Given the description of an element on the screen output the (x, y) to click on. 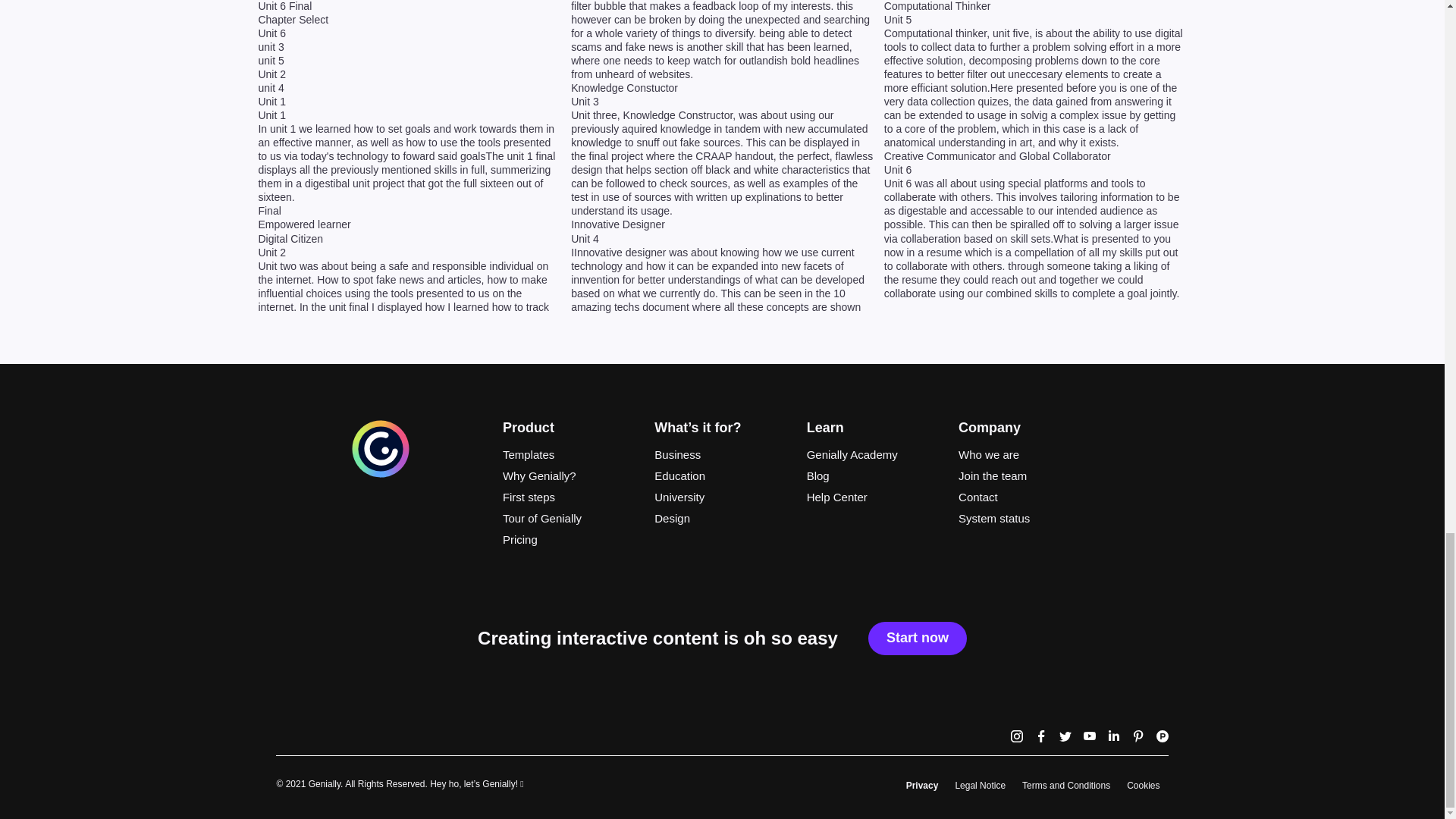
First steps (569, 497)
Templates (569, 454)
University (721, 497)
Design (721, 518)
Education (721, 475)
Business (721, 454)
Genially Academy (874, 454)
Genially home page (380, 475)
Why Genially? (569, 475)
Blog (874, 475)
